Given the description of an element on the screen output the (x, y) to click on. 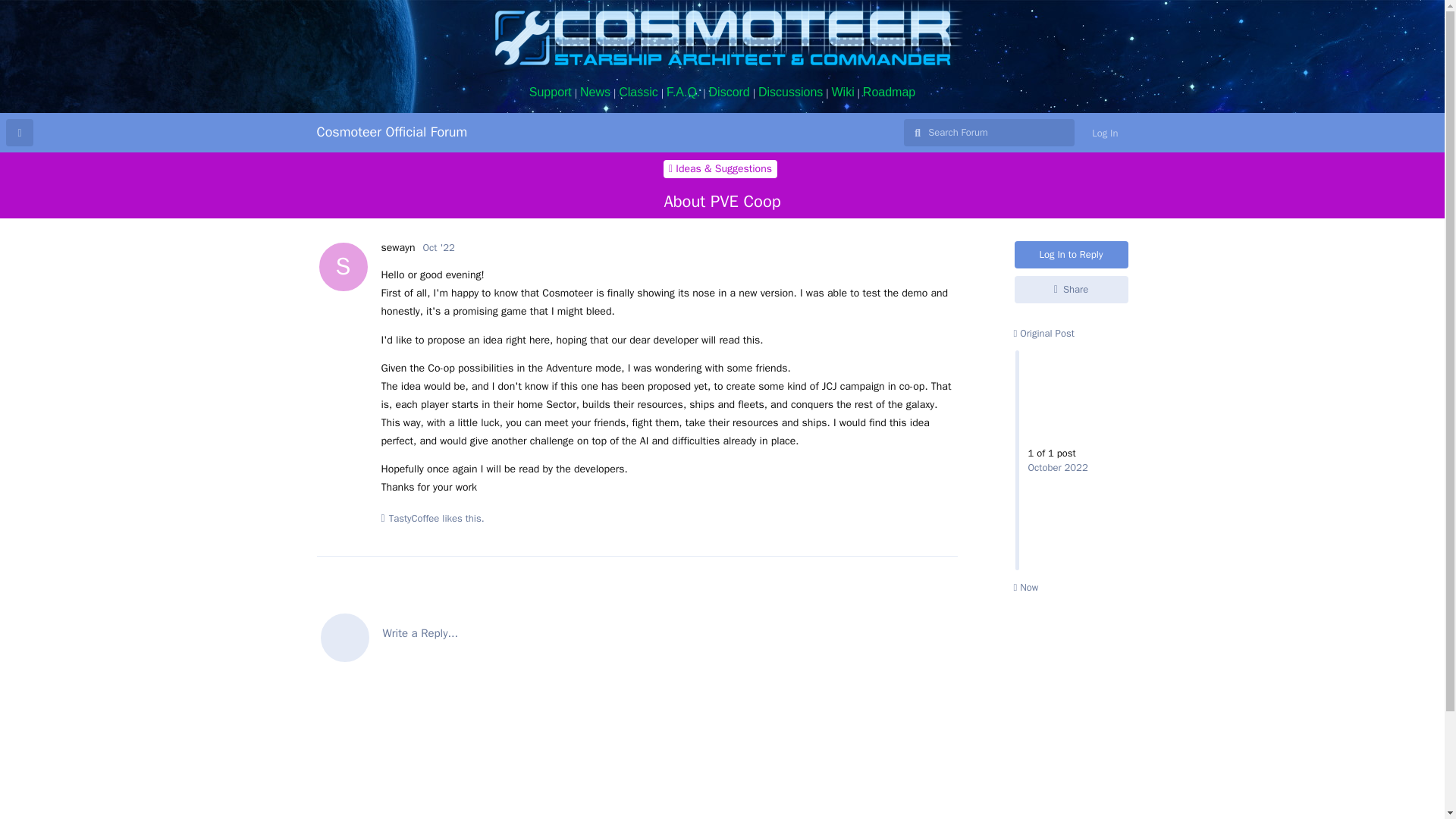
Now (1025, 586)
News (594, 91)
Oct '22 (438, 246)
Roadmap (889, 91)
Saturday, October 8, 2022 10:04 AM (438, 246)
Log In to Reply (1071, 254)
Share (1071, 289)
Log In (1103, 133)
Discord (729, 91)
Original Post (1043, 332)
Cosmoteer (721, 38)
Share (1071, 289)
Log In (1103, 133)
Support (550, 91)
Back to Discussion List (19, 132)
